Given the description of an element on the screen output the (x, y) to click on. 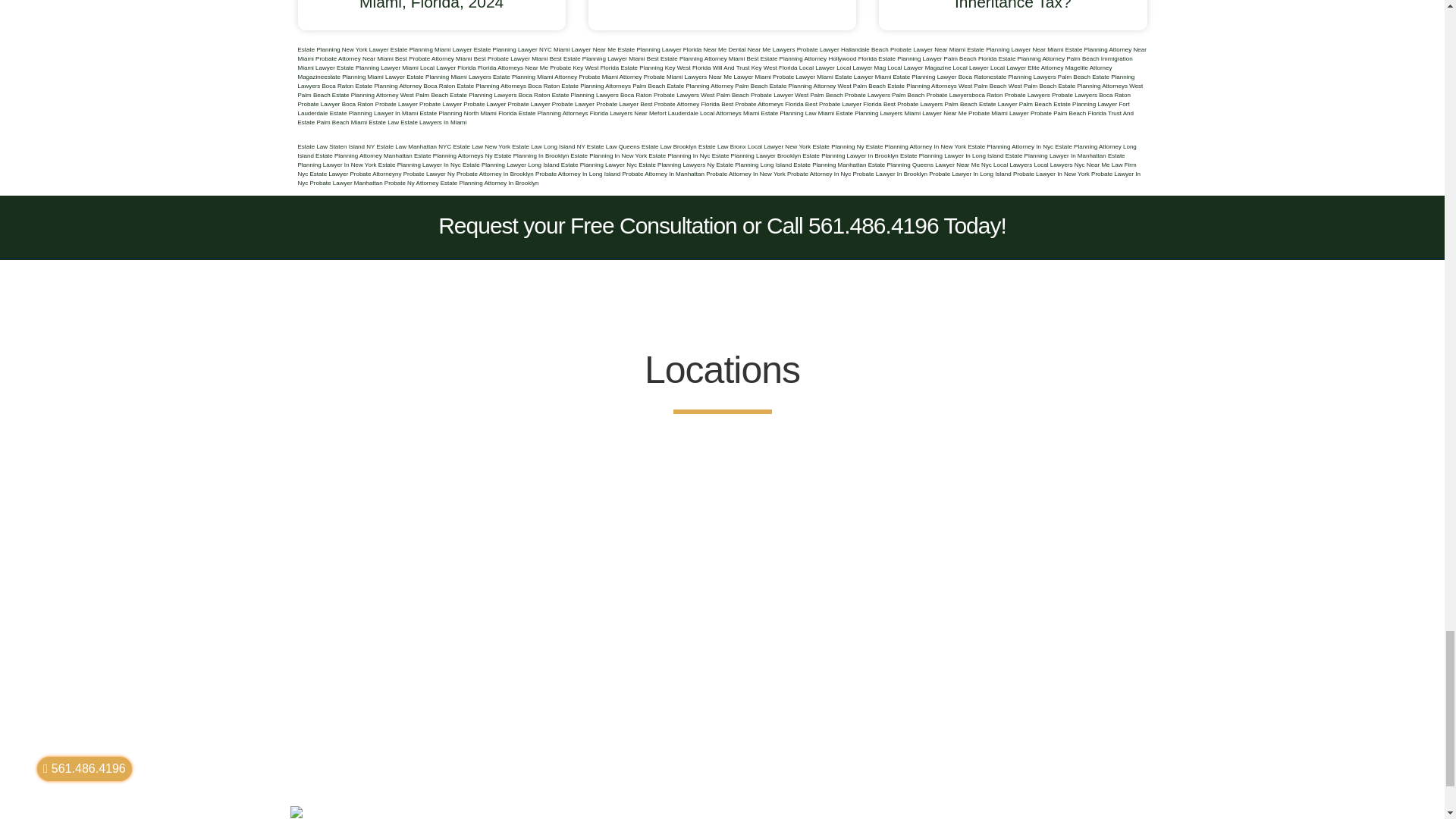
Logo-estate-planning-lawyer-miami.png (295, 812)
